Given the description of an element on the screen output the (x, y) to click on. 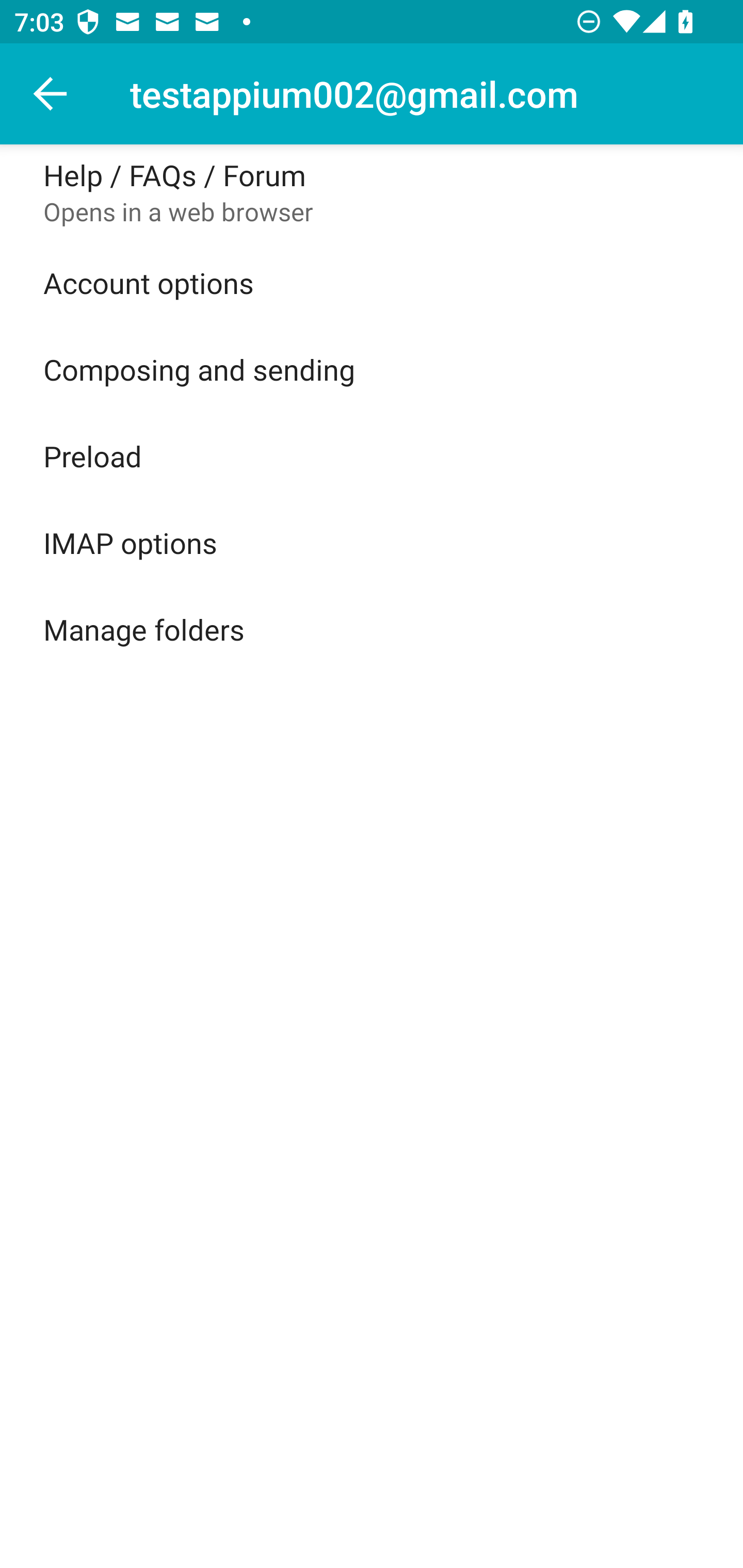
Navigate up (50, 93)
Help / FAQs / Forum Opens in a web browser (371, 191)
Account options (371, 282)
Composing and sending (371, 369)
Preload (371, 455)
IMAP options (371, 542)
Manage folders (371, 629)
